Given the description of an element on the screen output the (x, y) to click on. 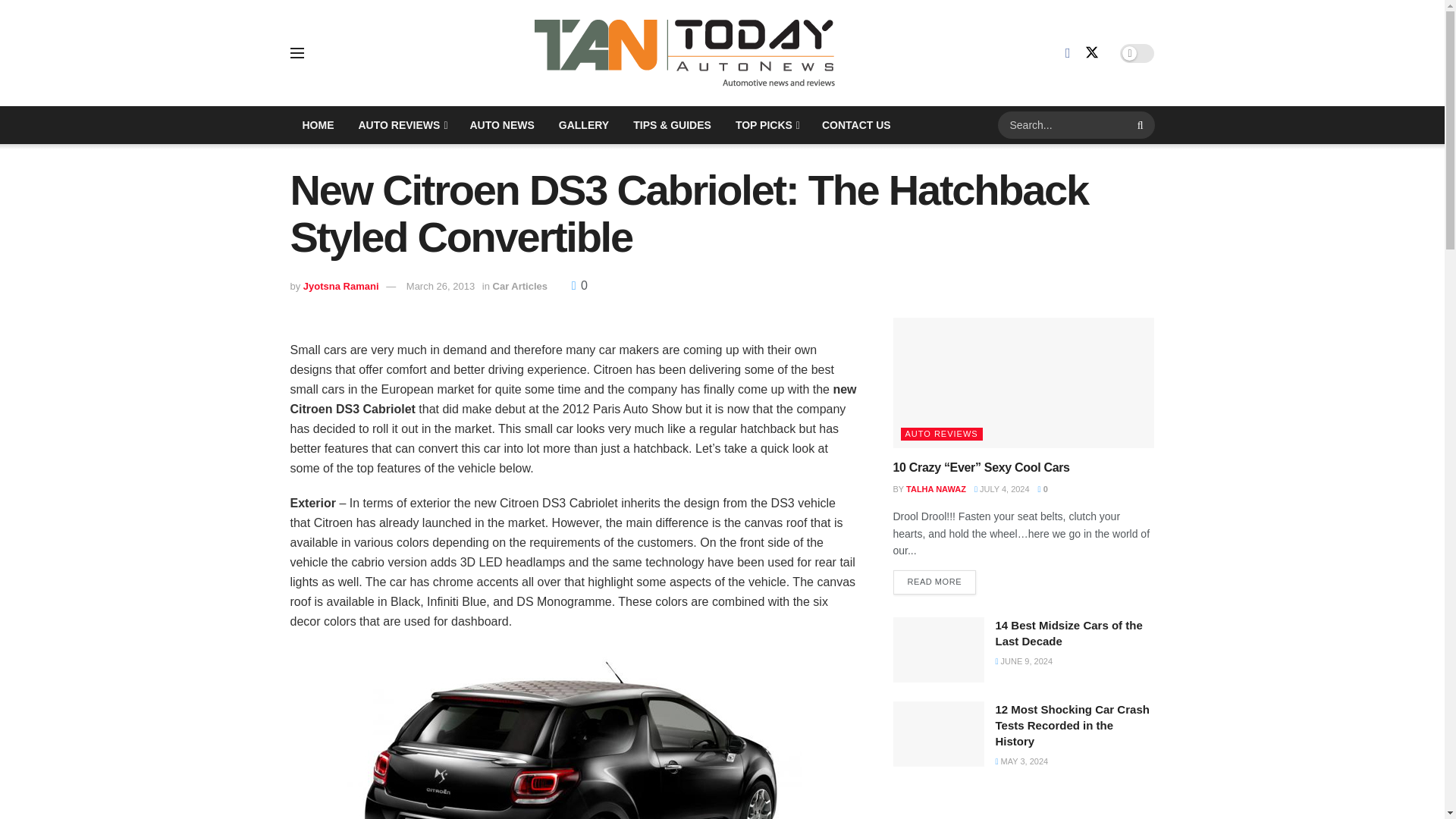
HOME (317, 125)
Citroen DS3 Cabriolet (574, 733)
AUTO REVIEWS (401, 125)
